Given the description of an element on the screen output the (x, y) to click on. 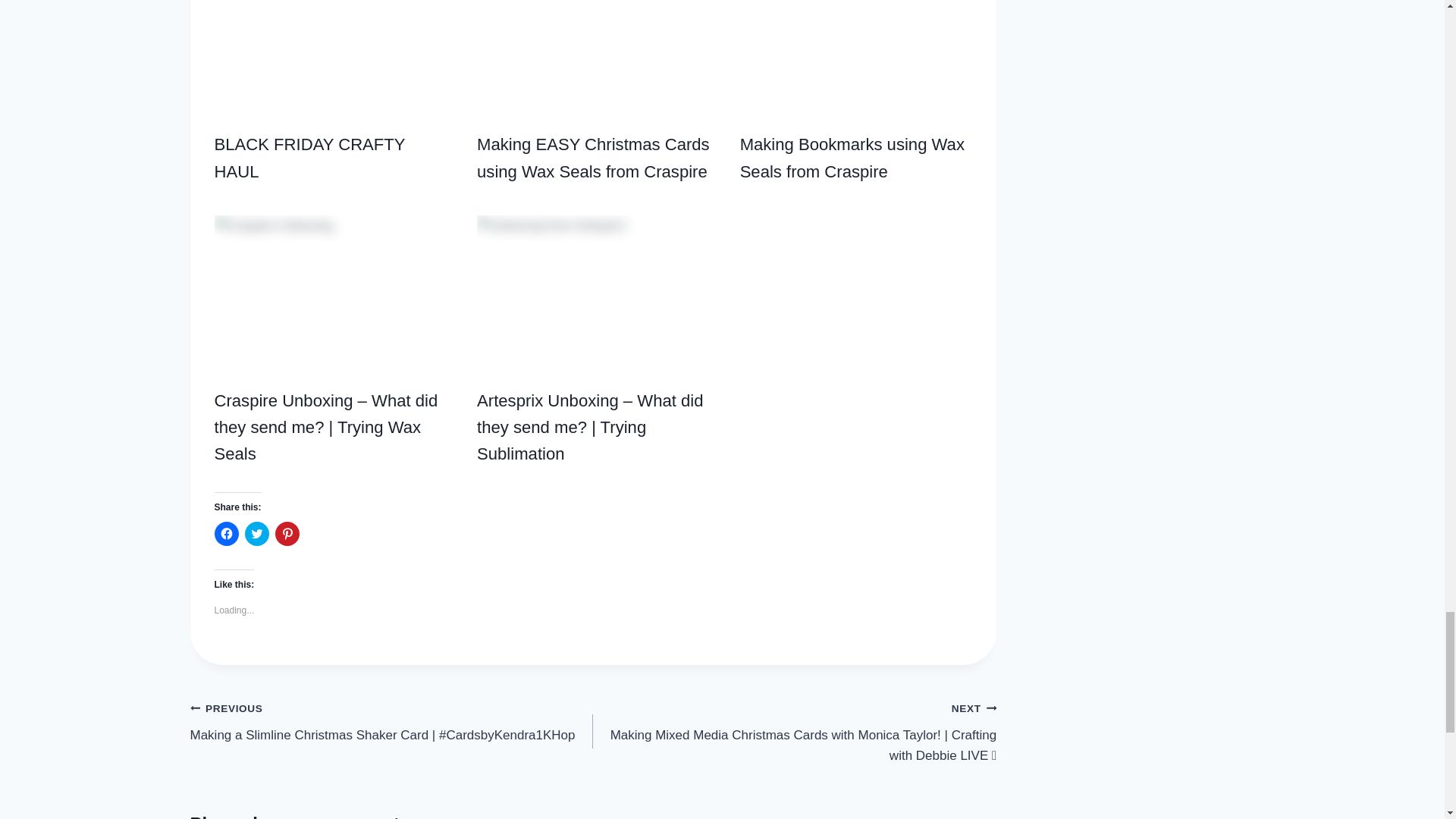
Click to share on Twitter (255, 533)
Click to share on Pinterest (286, 533)
Click to share on Facebook (226, 533)
